Given the description of an element on the screen output the (x, y) to click on. 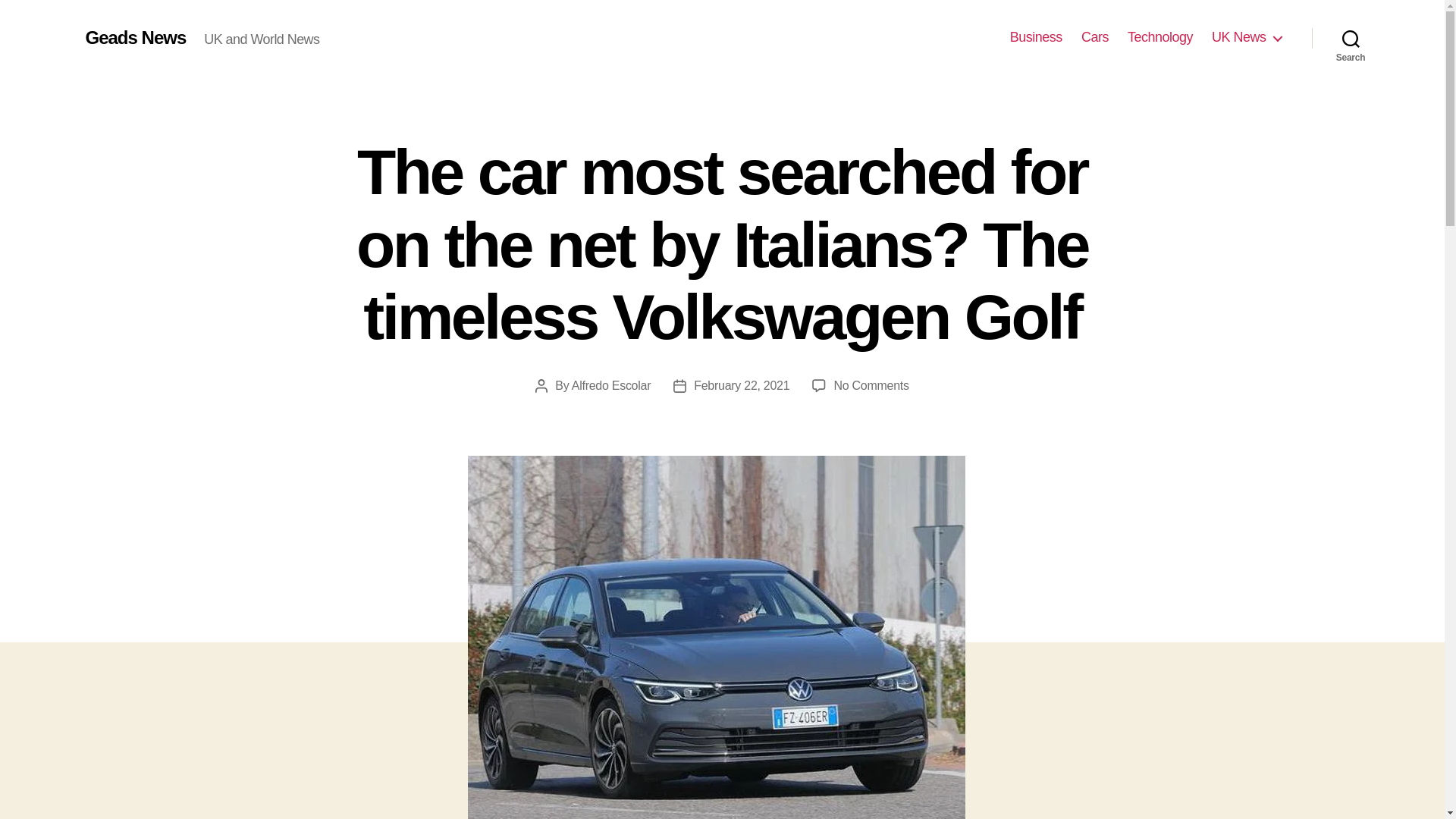
Business (1036, 37)
Cars (1094, 37)
UK News (1246, 37)
Technology (1159, 37)
Geads News (135, 37)
February 22, 2021 (741, 385)
Search (1350, 37)
Alfredo Escolar (611, 385)
